Given the description of an element on the screen output the (x, y) to click on. 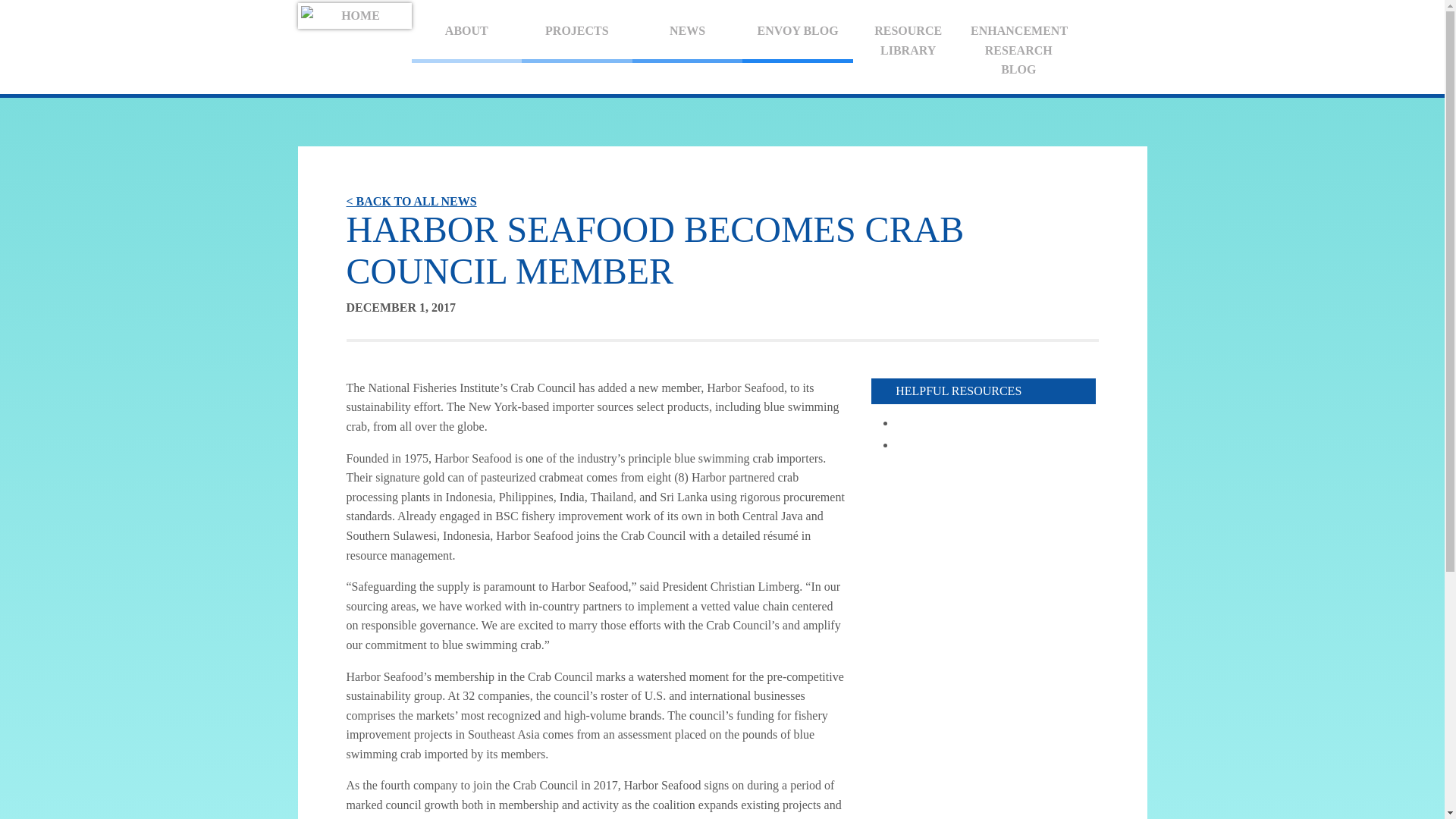
ABOUT (465, 33)
ENHANCEMENT RESEARCH BLOG (1018, 50)
NEWS (686, 33)
ENVOY BLOG (797, 33)
RESOURCE LIBRARY (908, 40)
PROJECTS (576, 33)
